Given the description of an element on the screen output the (x, y) to click on. 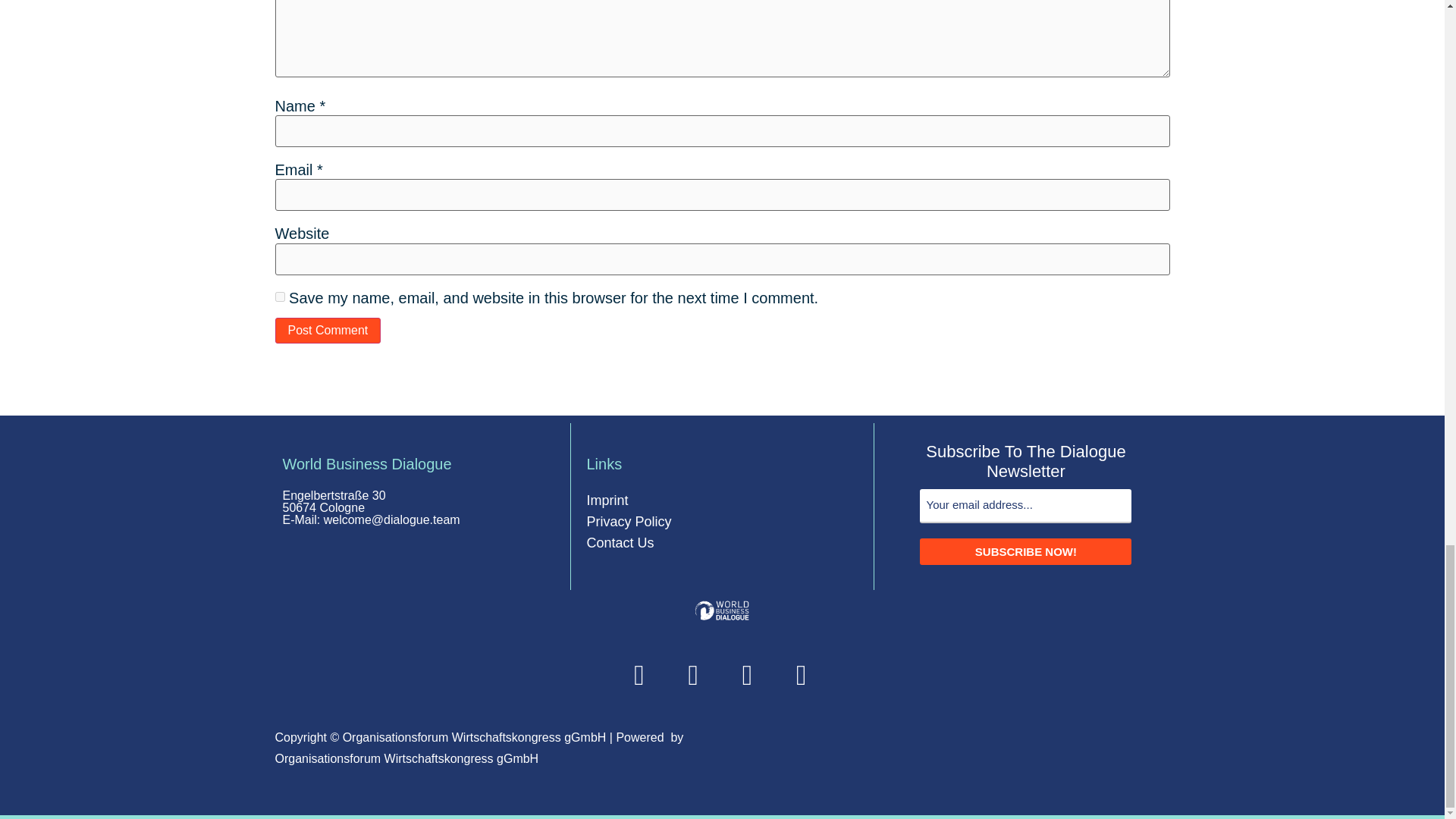
Post Comment (327, 330)
Imprint (606, 500)
Post Comment (327, 330)
yes (279, 296)
Subscribe Now! (1025, 551)
Privacy Policy (628, 521)
Contact Us (619, 542)
Subscribe Now! (1025, 551)
